Given the description of an element on the screen output the (x, y) to click on. 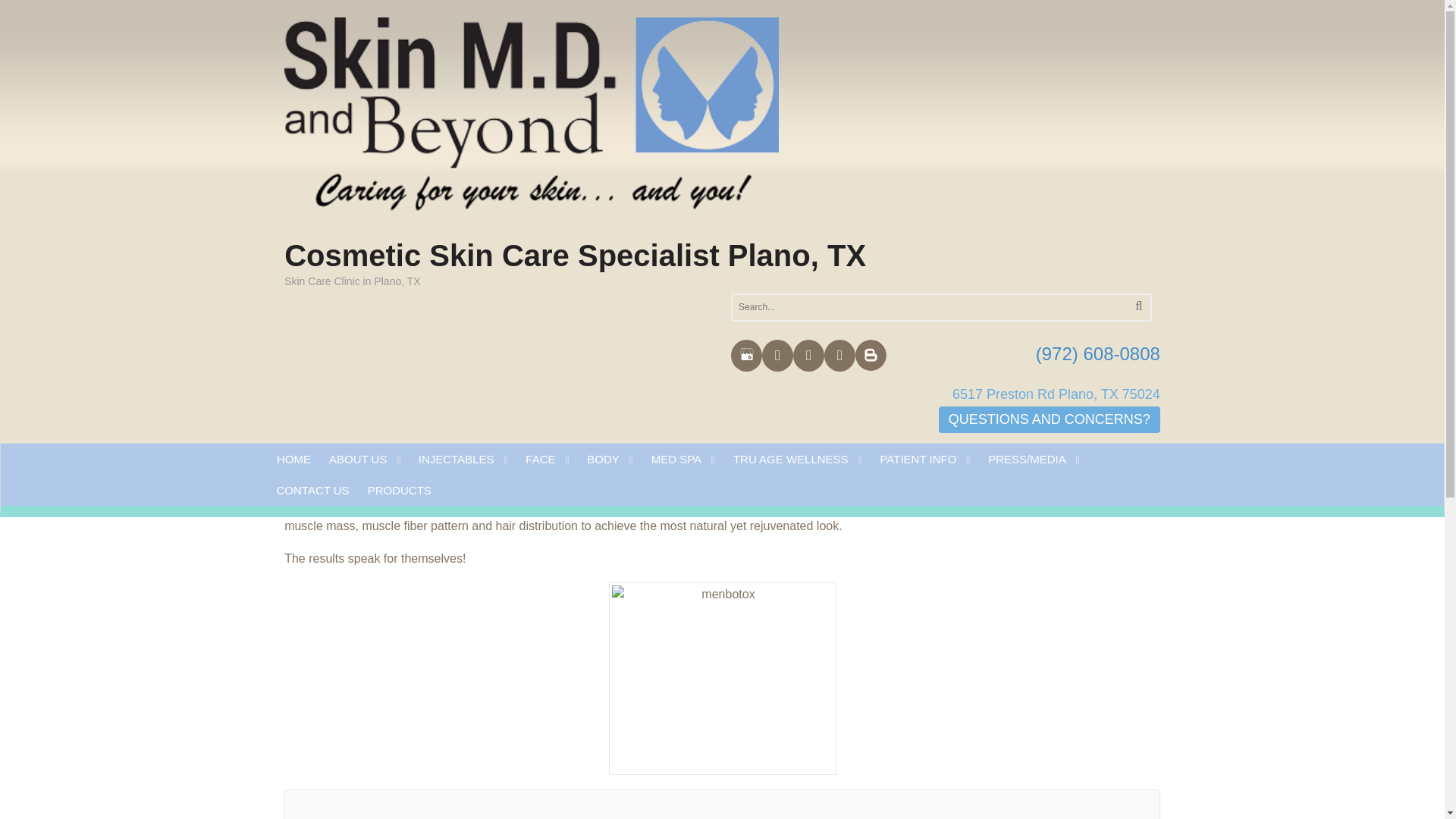
ABOUT US (364, 459)
QUESTIONS AND CONCERNS? (1049, 419)
Search... (909, 307)
Skin Care Clinic in Plano, TX (530, 123)
Cosmetic Skin Care Specialist Plano, TX (574, 255)
INJECTABLES (462, 459)
HOME (292, 459)
View all items in Injectables (382, 267)
